Given the description of an element on the screen output the (x, y) to click on. 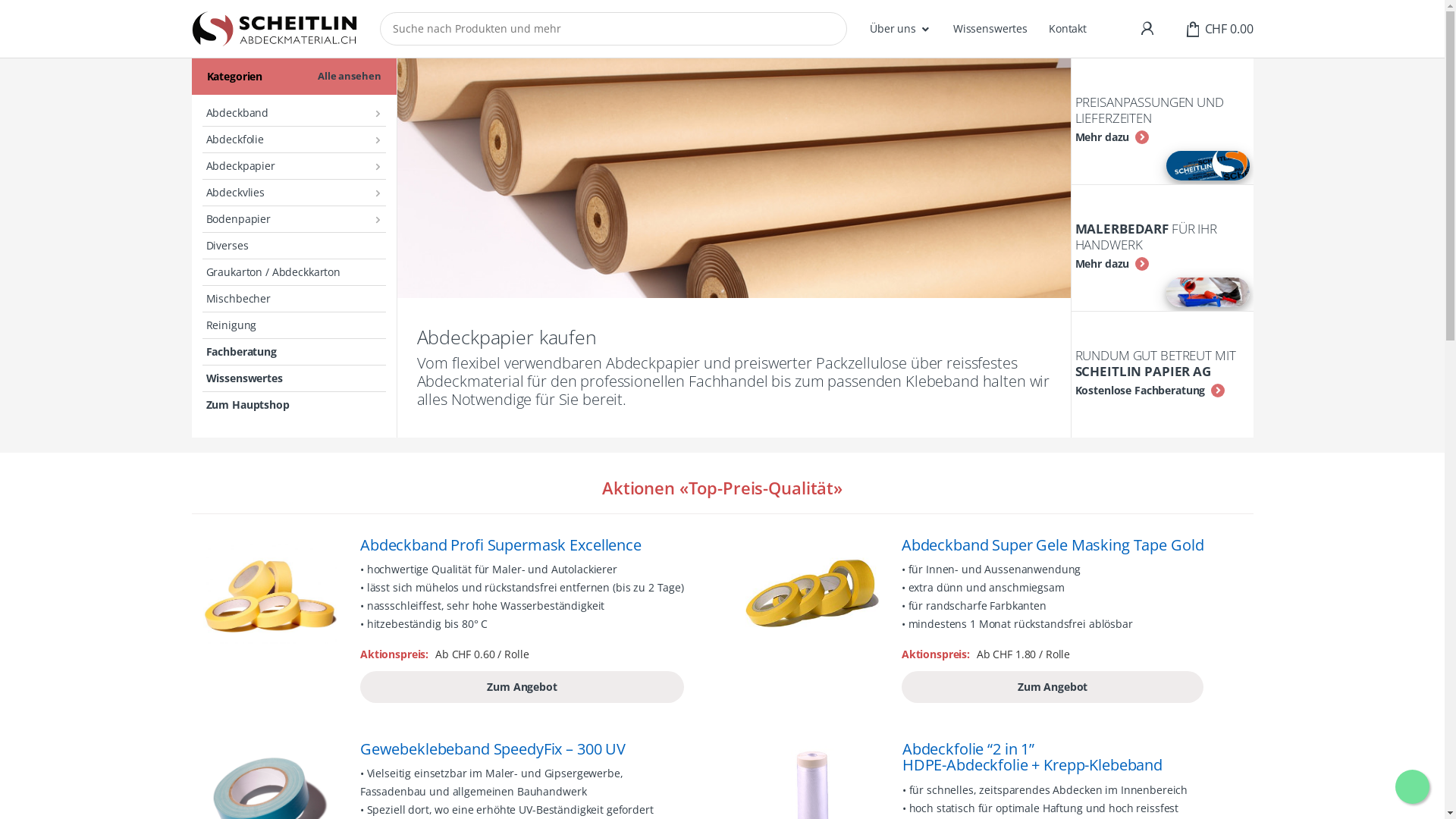
Abdeckband Profi Supermask Excellence Element type: text (522, 544)
Graukarton / Abdeckkarton Element type: text (293, 272)
Zum Hauptshop Element type: text (293, 404)
Alle ansehen Element type: text (348, 76)
Wissenswertes Element type: text (990, 29)
Bodenpapier Element type: text (293, 219)
Abdeckpapier Element type: text (293, 166)
PREISANPASSUNGEN UND LIEFERZEITEN
Mehr dazu Element type: text (1156, 121)
Abdeckfolie Element type: text (293, 139)
Abdeckband Element type: text (293, 113)
Zum Angebot Element type: text (522, 686)
CHF 0.00 Element type: text (1218, 28)
Mischbecher Element type: text (293, 298)
Reinigung Element type: text (293, 325)
Abdeckband Super Gele Masking Tape Gold Element type: text (1052, 544)
Kontakt Element type: text (1067, 29)
Abdeckvlies Element type: text (293, 192)
Zum Angebot Element type: text (1052, 686)
Diverses Element type: text (293, 245)
Wissenswertes Element type: text (293, 378)
Fachberatung Element type: text (293, 351)
